Given the description of an element on the screen output the (x, y) to click on. 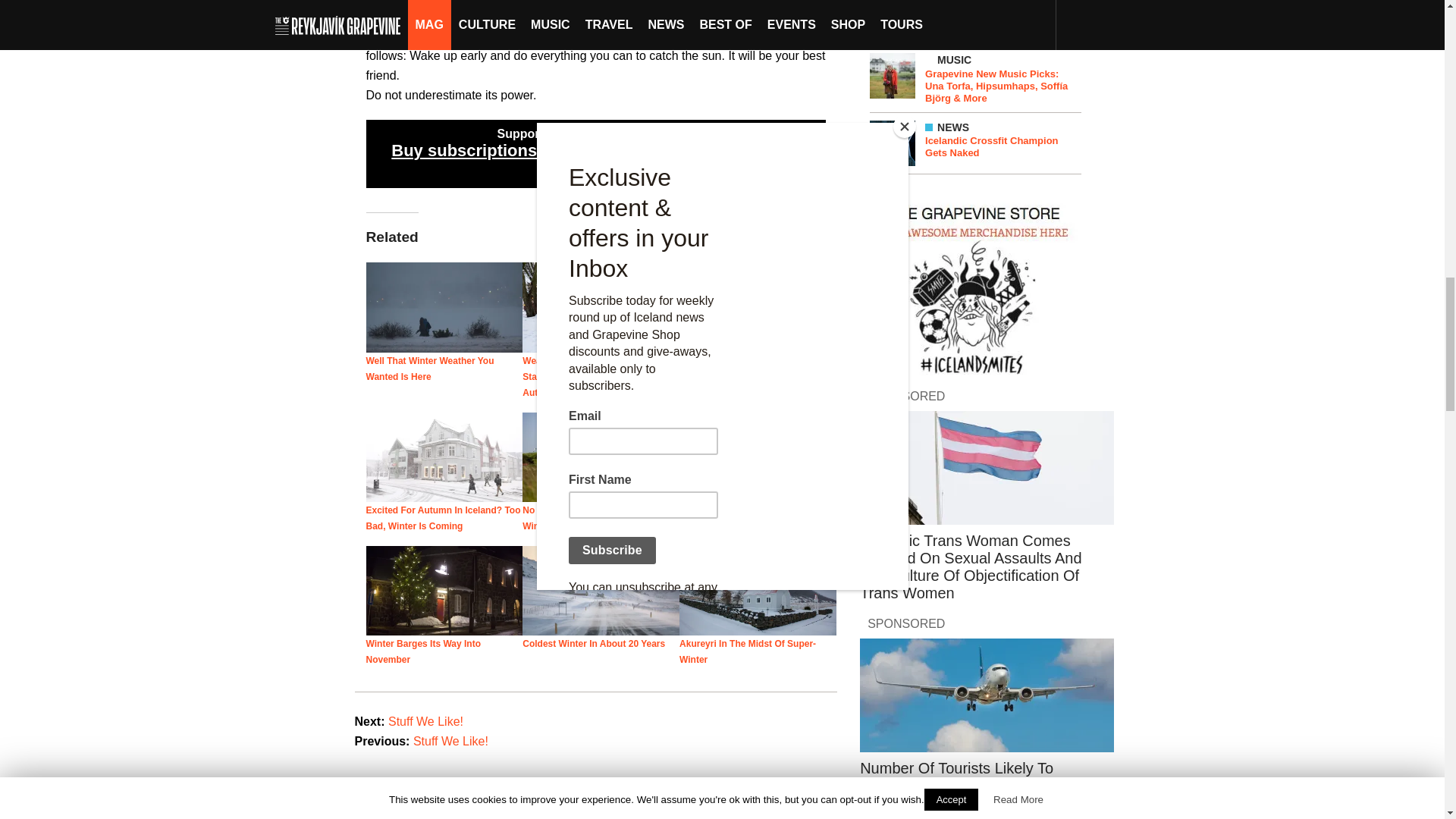
Winter Barges Its Way Into November (422, 651)
Stuff We Like! (425, 721)
Bad Weather Saved Iceland From Volcano Pollution (757, 457)
Coldest Winter In About 20 Years (593, 643)
Bad Weather Saved Iceland From Volcano Pollution (751, 518)
No Snow Expected On The First Winter Day (591, 518)
No Snow Expected On The First Winter Day (591, 518)
Akureyri In The Midst Of Super-Winter (747, 651)
Bad Weather Saved Iceland From Volcano Pollution (751, 518)
No Snow Expected On The First Winter Day (600, 457)
